Given the description of an element on the screen output the (x, y) to click on. 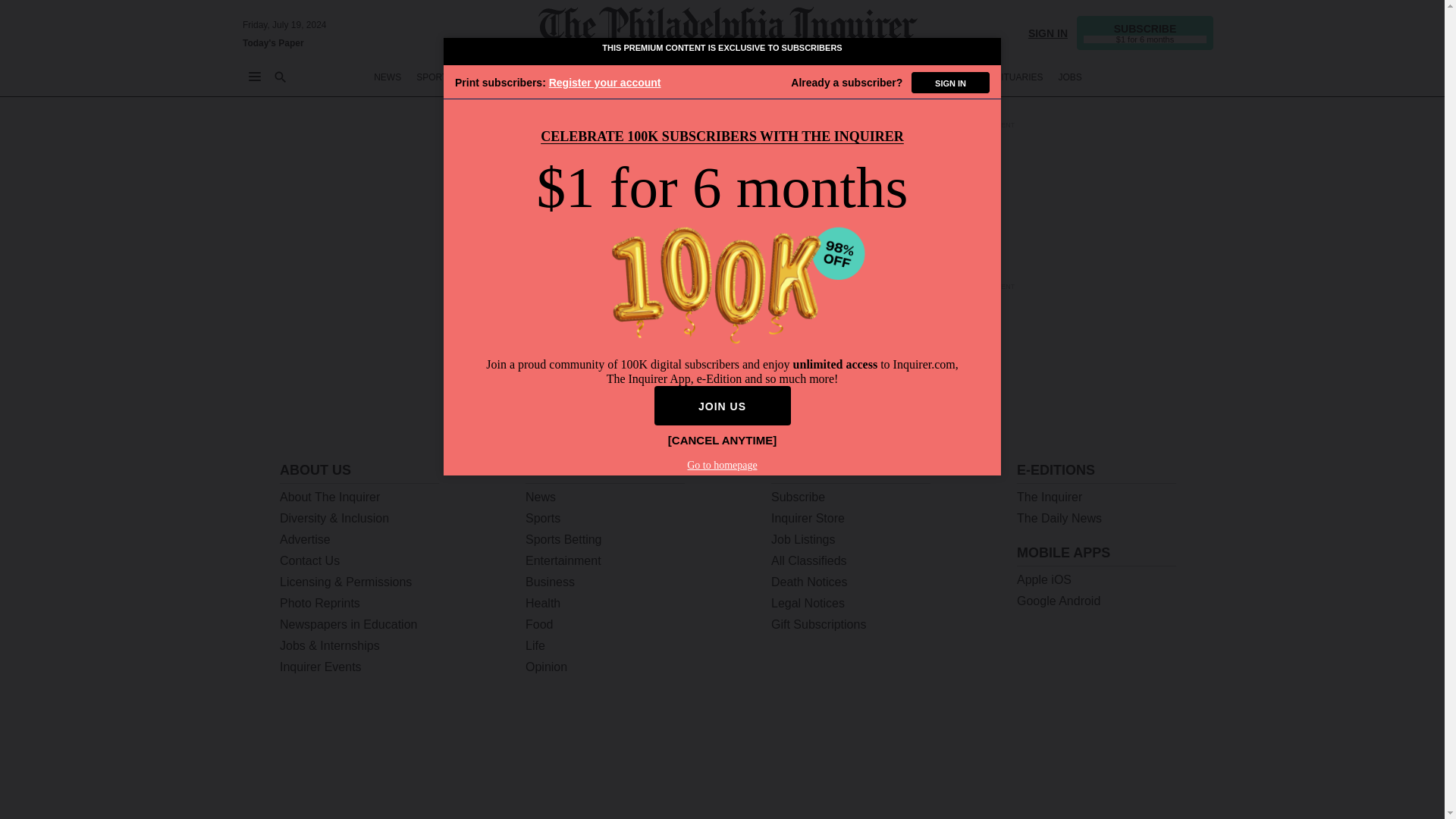
Facebook (1076, 789)
Instagram (1115, 789)
Twitter (1036, 789)
